Given the description of an element on the screen output the (x, y) to click on. 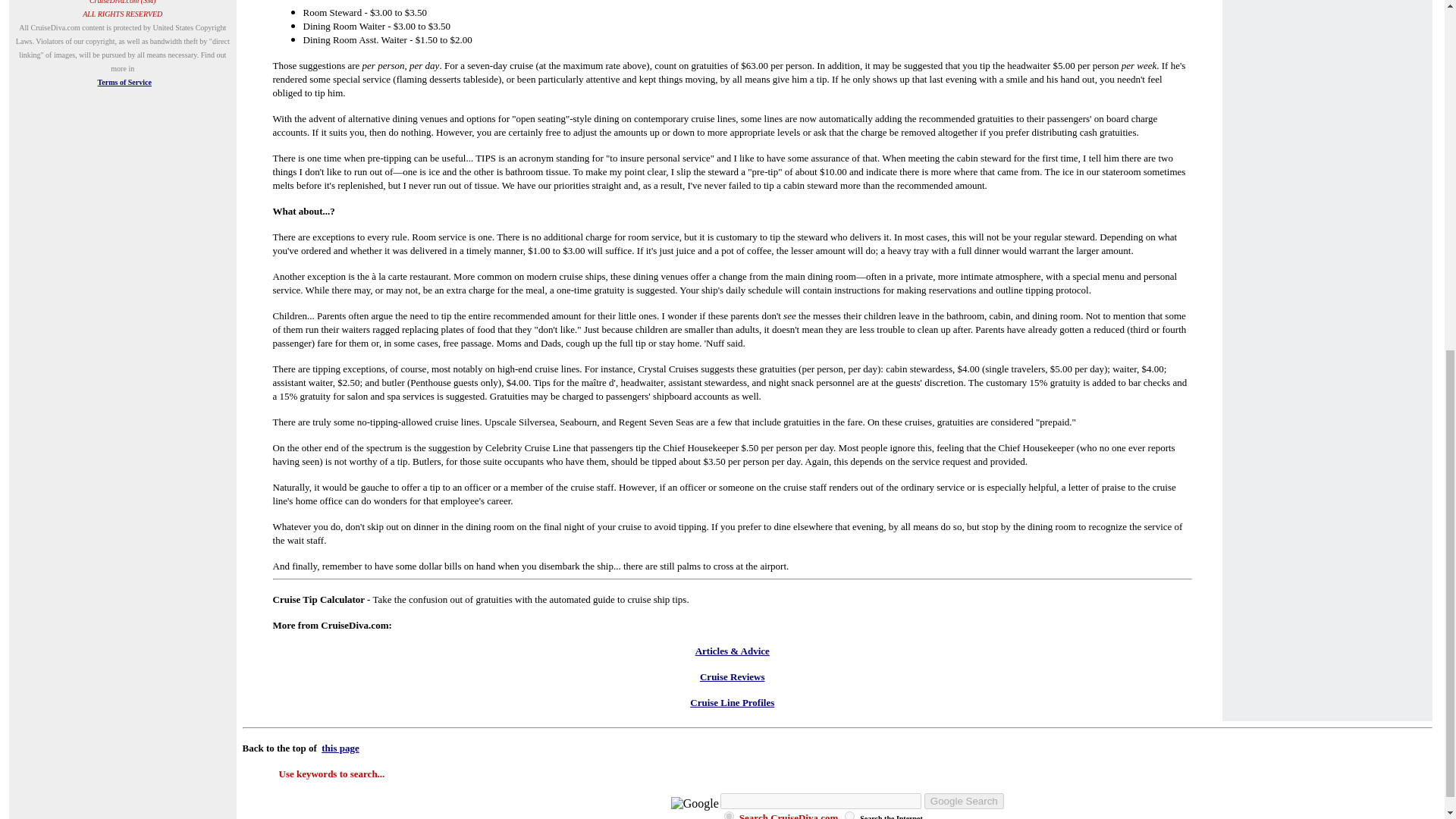
Silversea (536, 421)
Celebrity Cruise Line (527, 447)
Crystal Cruises (667, 368)
Seabourn (577, 421)
Terms of Service (124, 81)
Google Search (964, 801)
Cruise Line Profiles (732, 702)
Cruise Reviews (732, 676)
Google Search (964, 801)
this page (339, 747)
Seven Seas (671, 421)
